Given the description of an element on the screen output the (x, y) to click on. 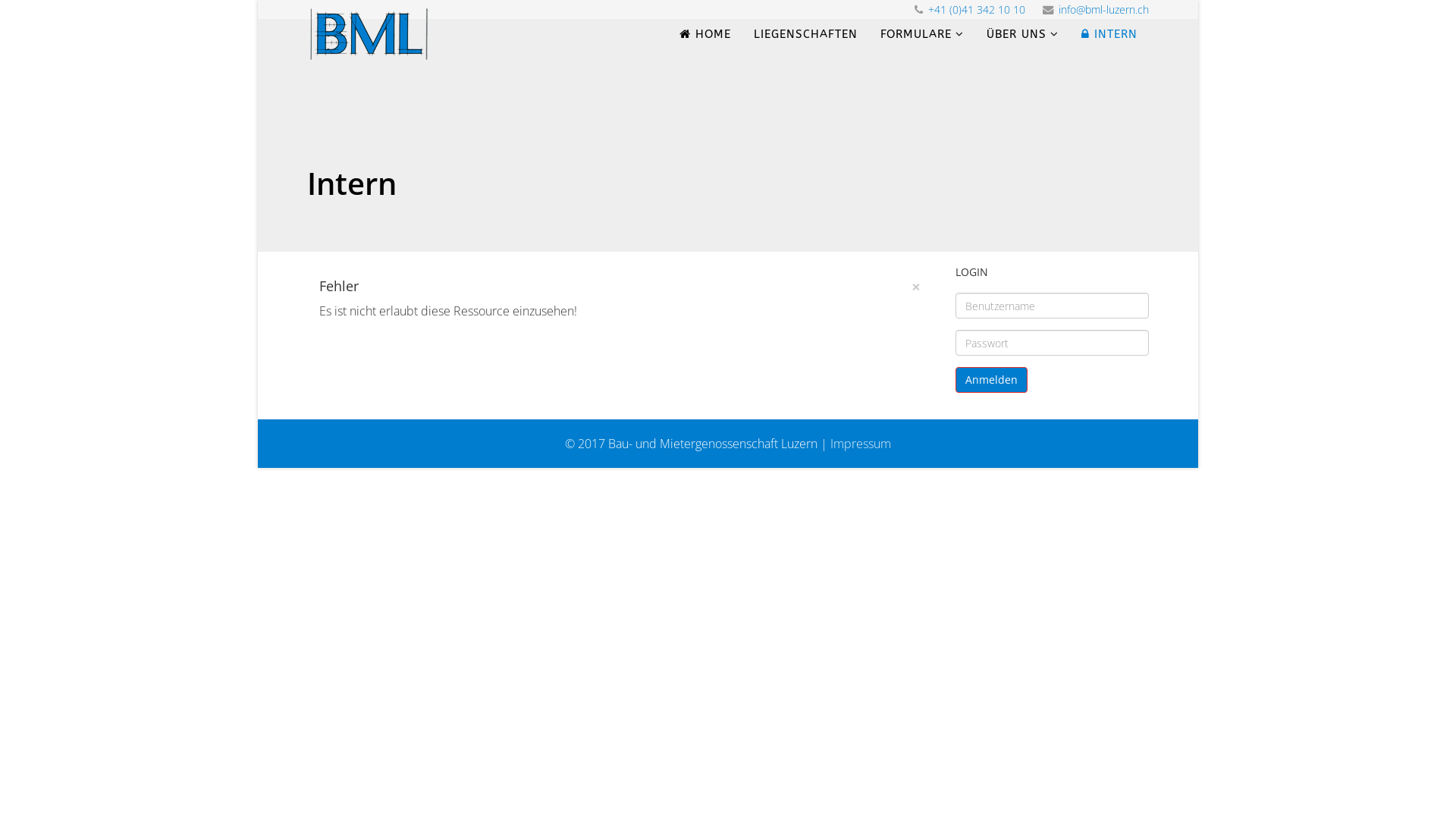
+41 (0)41 342 10 10 Element type: text (976, 9)
Impressum Element type: text (860, 443)
HOME Element type: text (705, 34)
Anmelden Element type: text (991, 379)
INTERN Element type: text (1109, 34)
info@bml-luzern.ch Element type: text (1103, 9)
LIEGENSCHAFTEN Element type: text (805, 34)
FORMULARE Element type: text (922, 34)
